Given the description of an element on the screen output the (x, y) to click on. 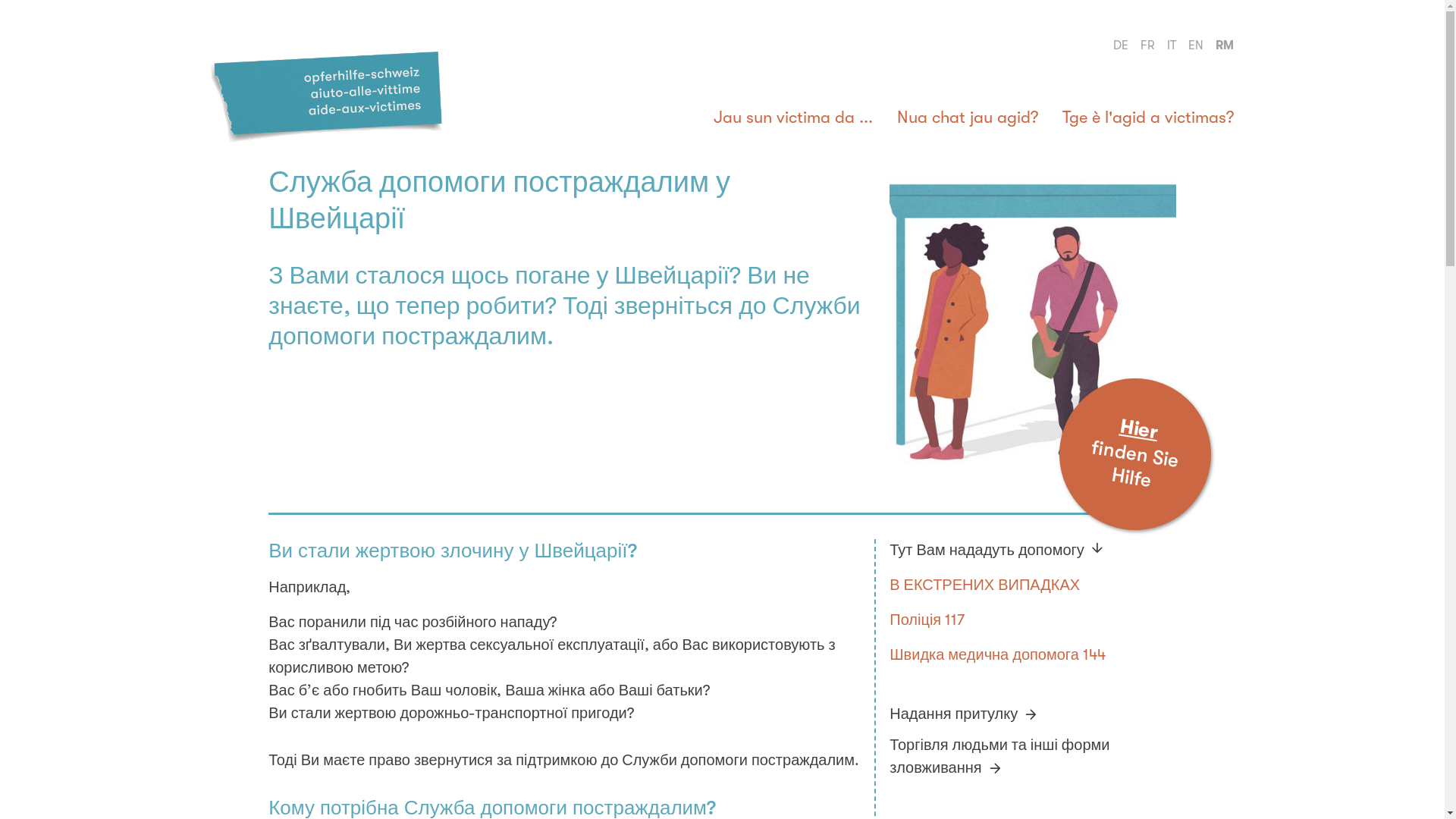
FR Element type: text (1147, 45)
Nua chat jau agid? Element type: text (967, 118)
EN Element type: text (1195, 45)
IT Element type: text (1171, 45)
RM Element type: text (1224, 45)
Hier
finden Sie Hilfe Element type: text (1123, 443)
DE Element type: text (1120, 45)
Jau sun victima da ... Element type: text (792, 118)
